Given the description of an element on the screen output the (x, y) to click on. 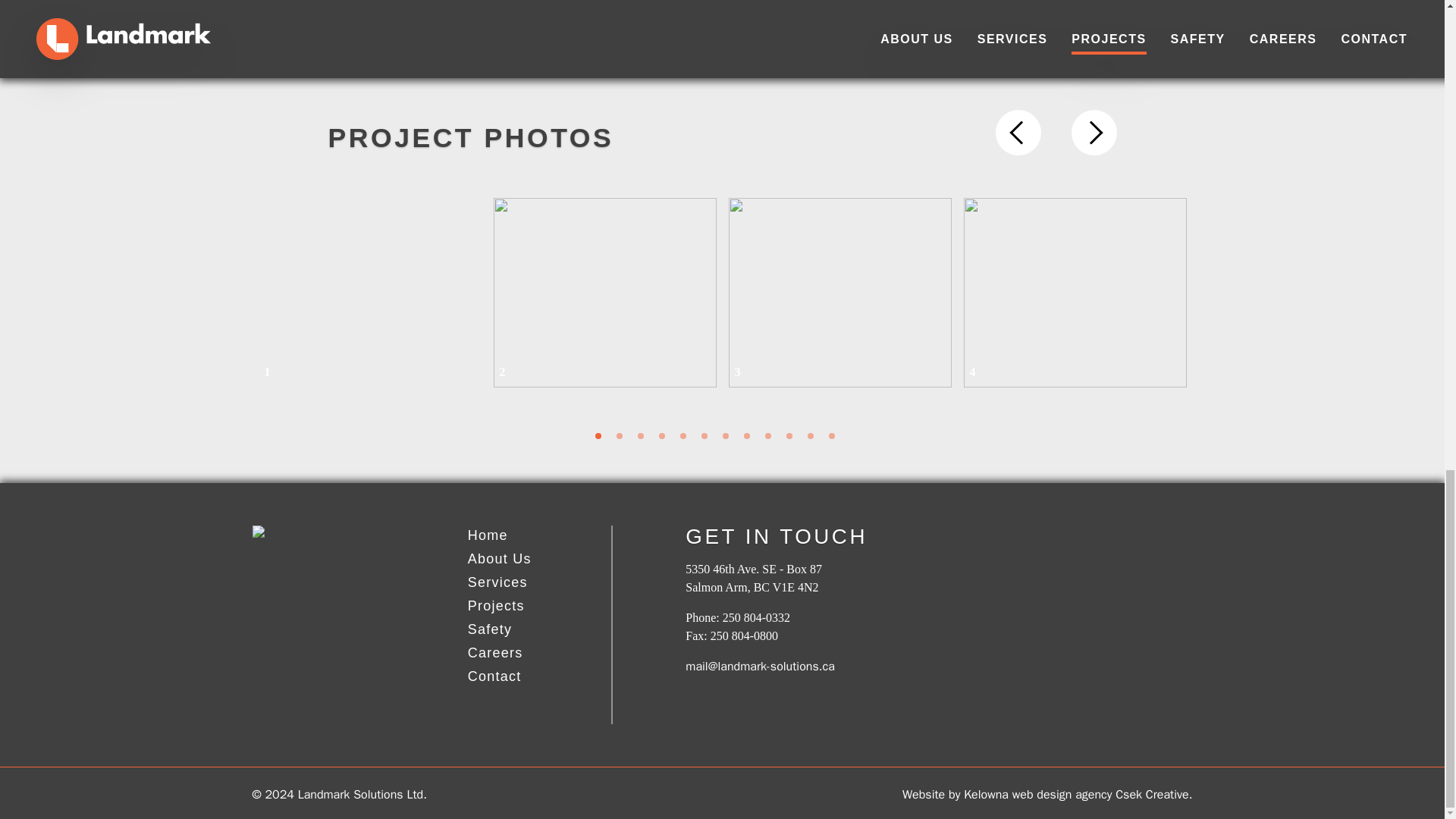
5 (682, 435)
7 (725, 435)
1 (368, 292)
8 (745, 435)
2 (604, 292)
4 (660, 435)
2 (618, 435)
12 (831, 435)
6 (703, 435)
3 (640, 435)
